Given the description of an element on the screen output the (x, y) to click on. 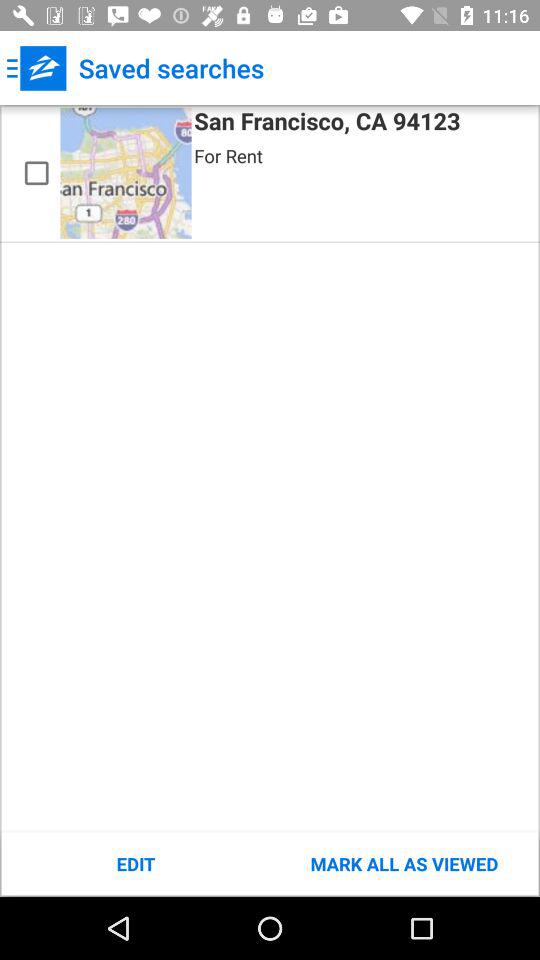
turn on item next to saved searches app (36, 68)
